Given the description of an element on the screen output the (x, y) to click on. 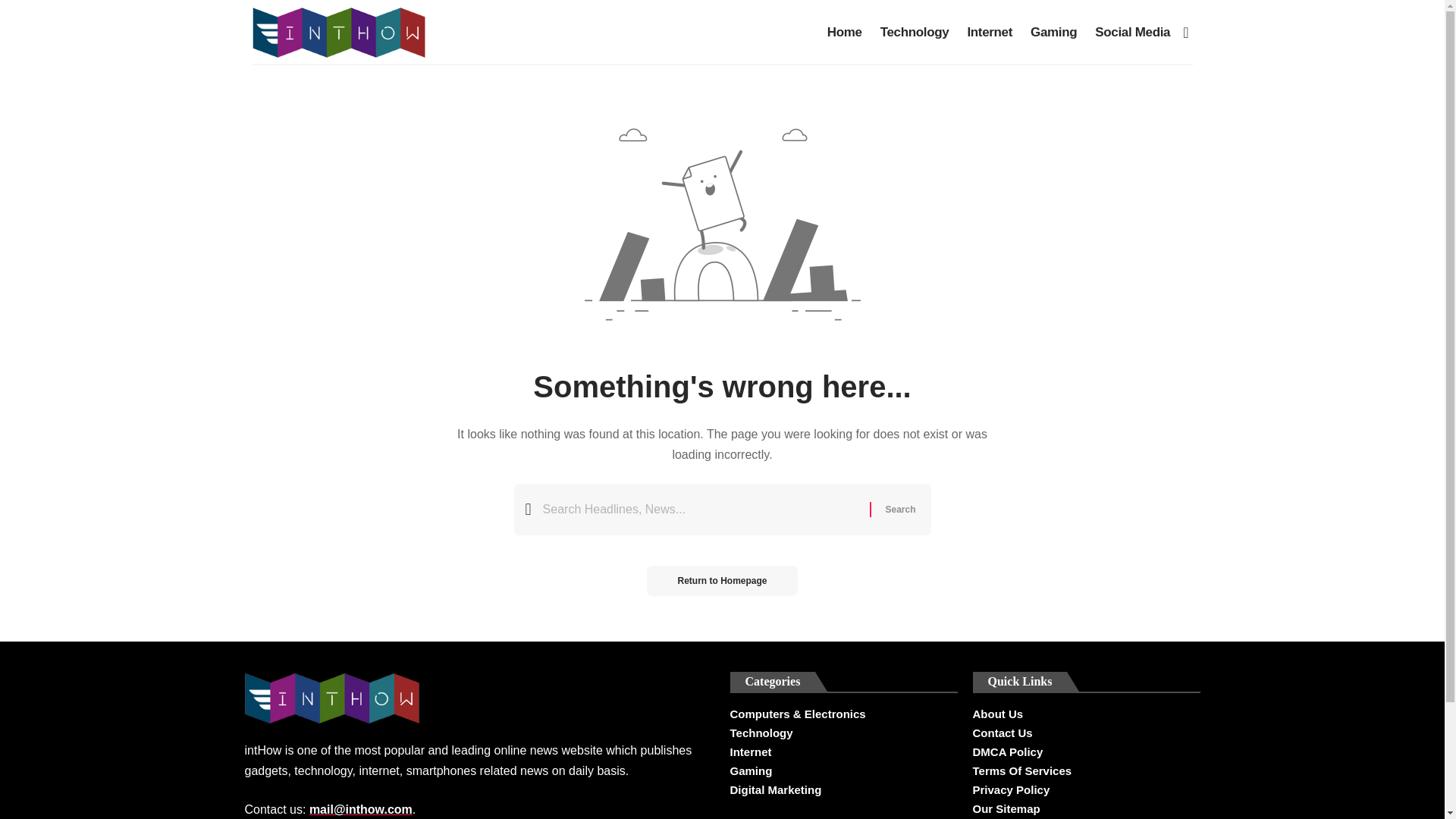
Privacy Policy (1085, 789)
Return to Homepage (721, 580)
Our Sitemap (1085, 808)
DMCA Policy (1085, 751)
Technology (842, 732)
Gaming (842, 770)
Technology (914, 31)
Gaming (1054, 31)
Internet (990, 31)
Terms Of Services (1085, 770)
About Us (1085, 715)
intHow (338, 31)
Search (899, 509)
Contact Us (1085, 732)
Home (844, 31)
